Given the description of an element on the screen output the (x, y) to click on. 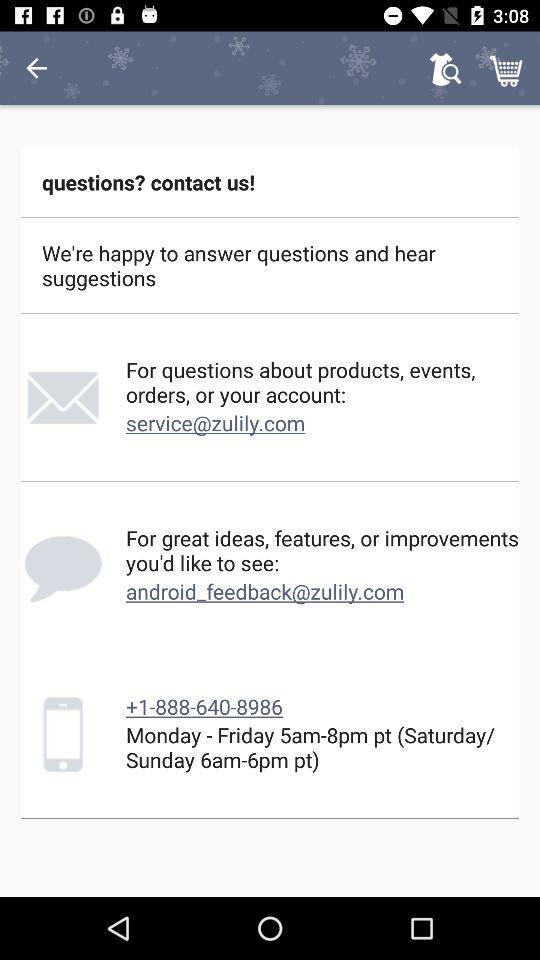
turn off the 1 888 640 item (204, 706)
